Given the description of an element on the screen output the (x, y) to click on. 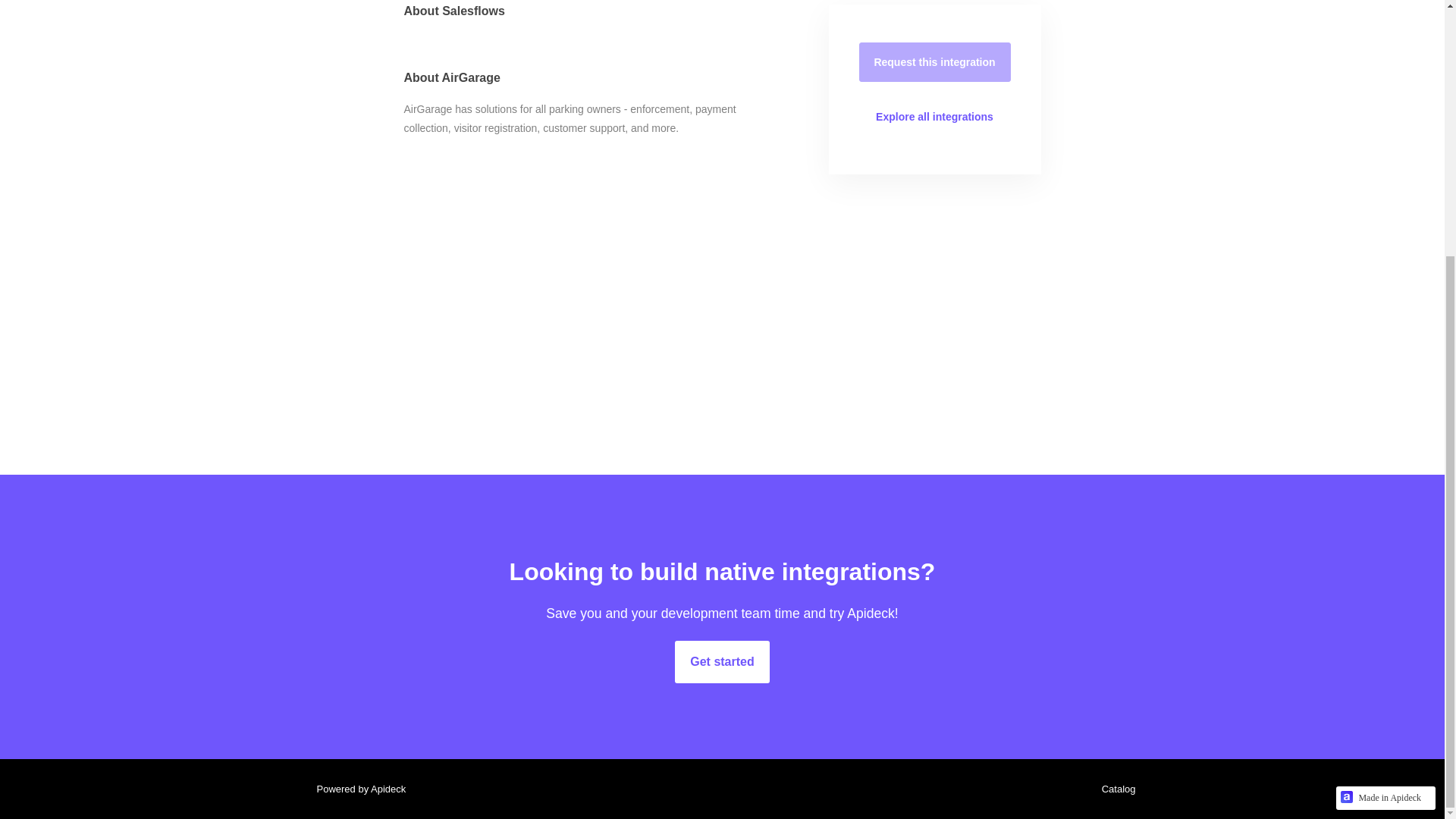
Explore all integrations (934, 116)
Request this integration (934, 61)
Get started (721, 661)
Catalog (1115, 789)
Powered by Apideck (356, 789)
